Given the description of an element on the screen output the (x, y) to click on. 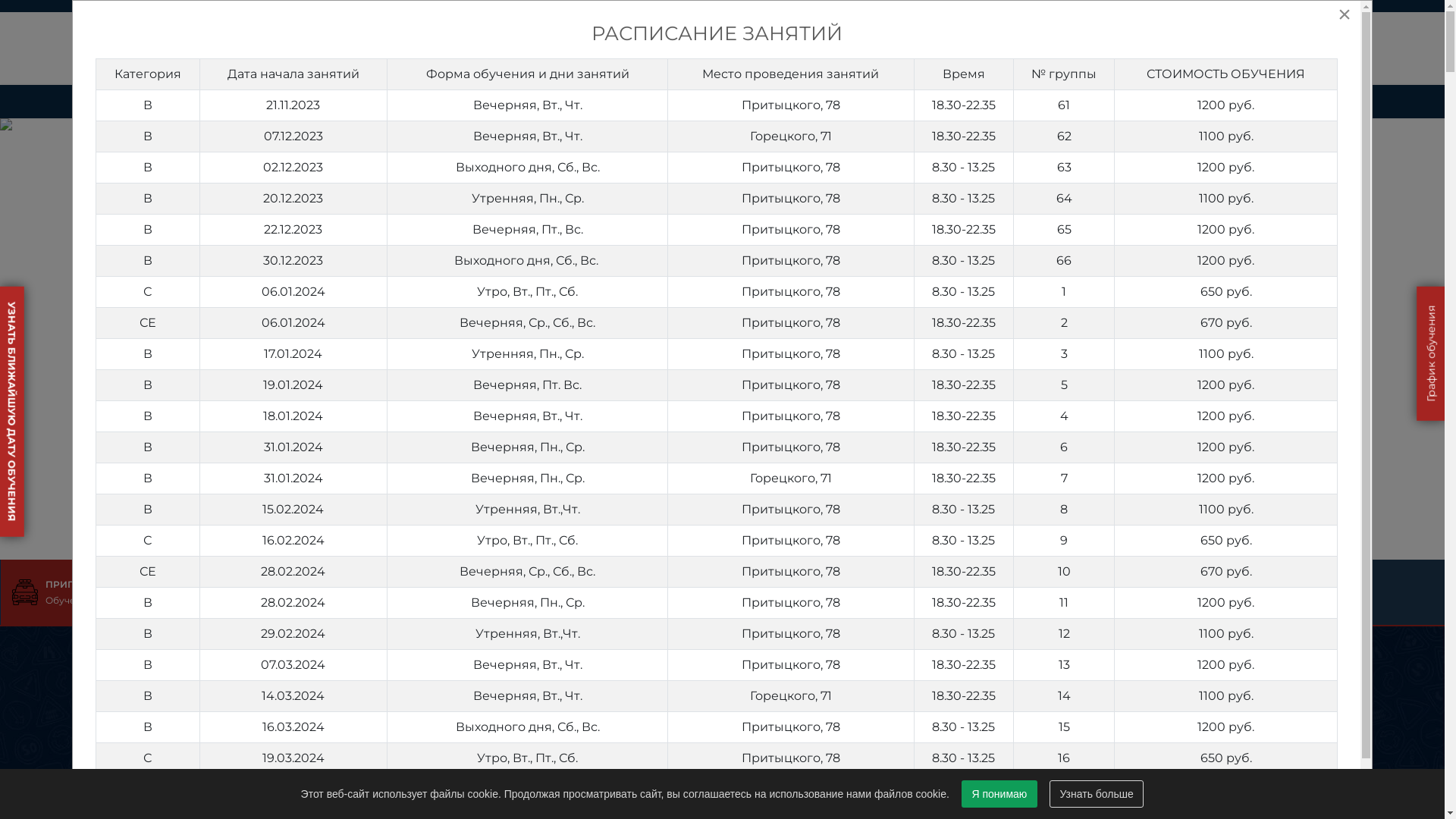
+375 44 710 71 22 Element type: text (764, 48)
+375 25 544 71 22 Element type: text (947, 48)
+375 17 244 17 71 Element type: text (581, 48)
